Given the description of an element on the screen output the (x, y) to click on. 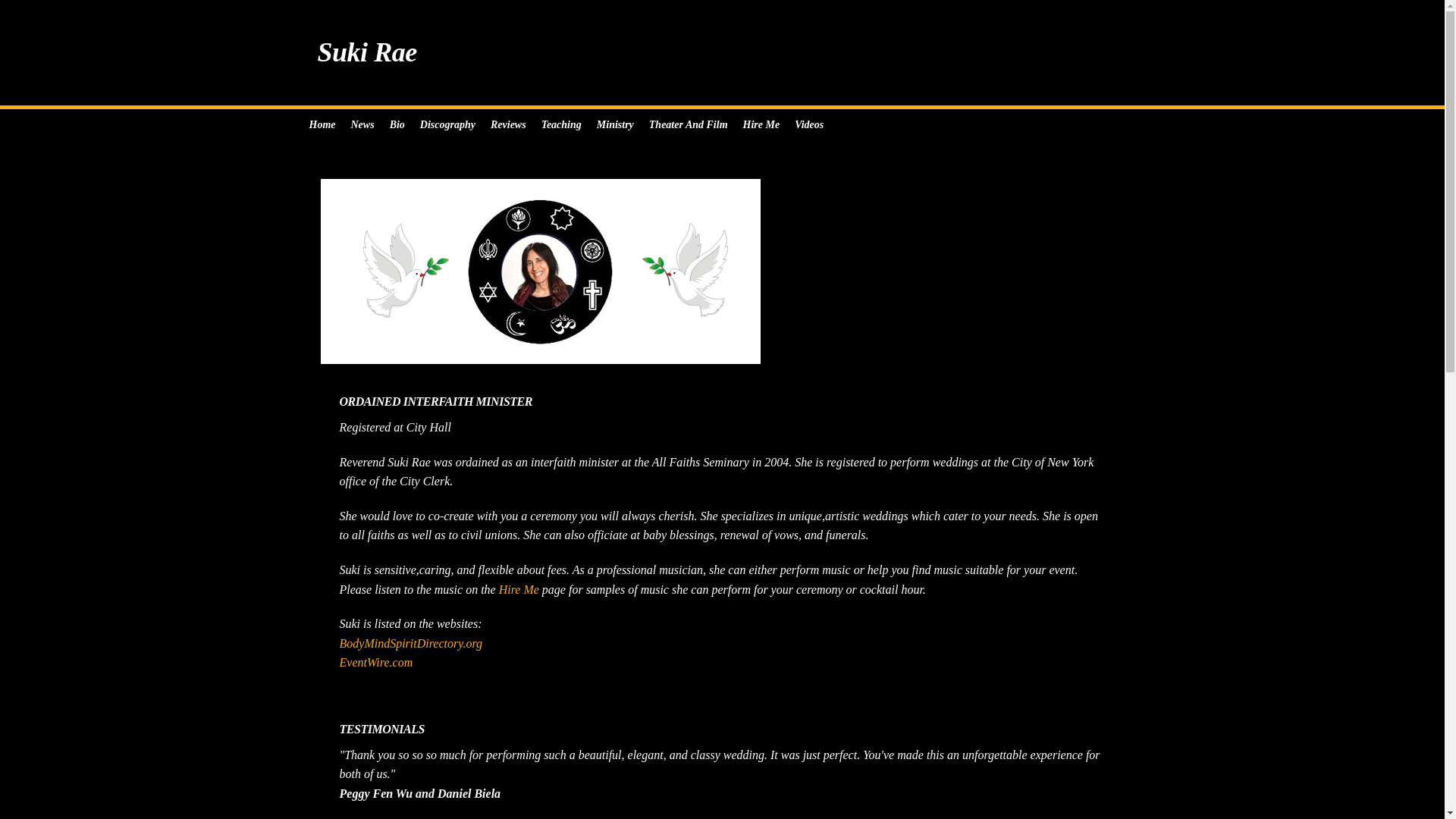
Hire Me (761, 124)
Bio (396, 124)
Reviews (508, 124)
Videos (809, 124)
Hire Me (518, 589)
Teaching (561, 124)
News (361, 124)
Suki Rae (721, 52)
Discography (447, 124)
Theater And Film (688, 124)
